Given the description of an element on the screen output the (x, y) to click on. 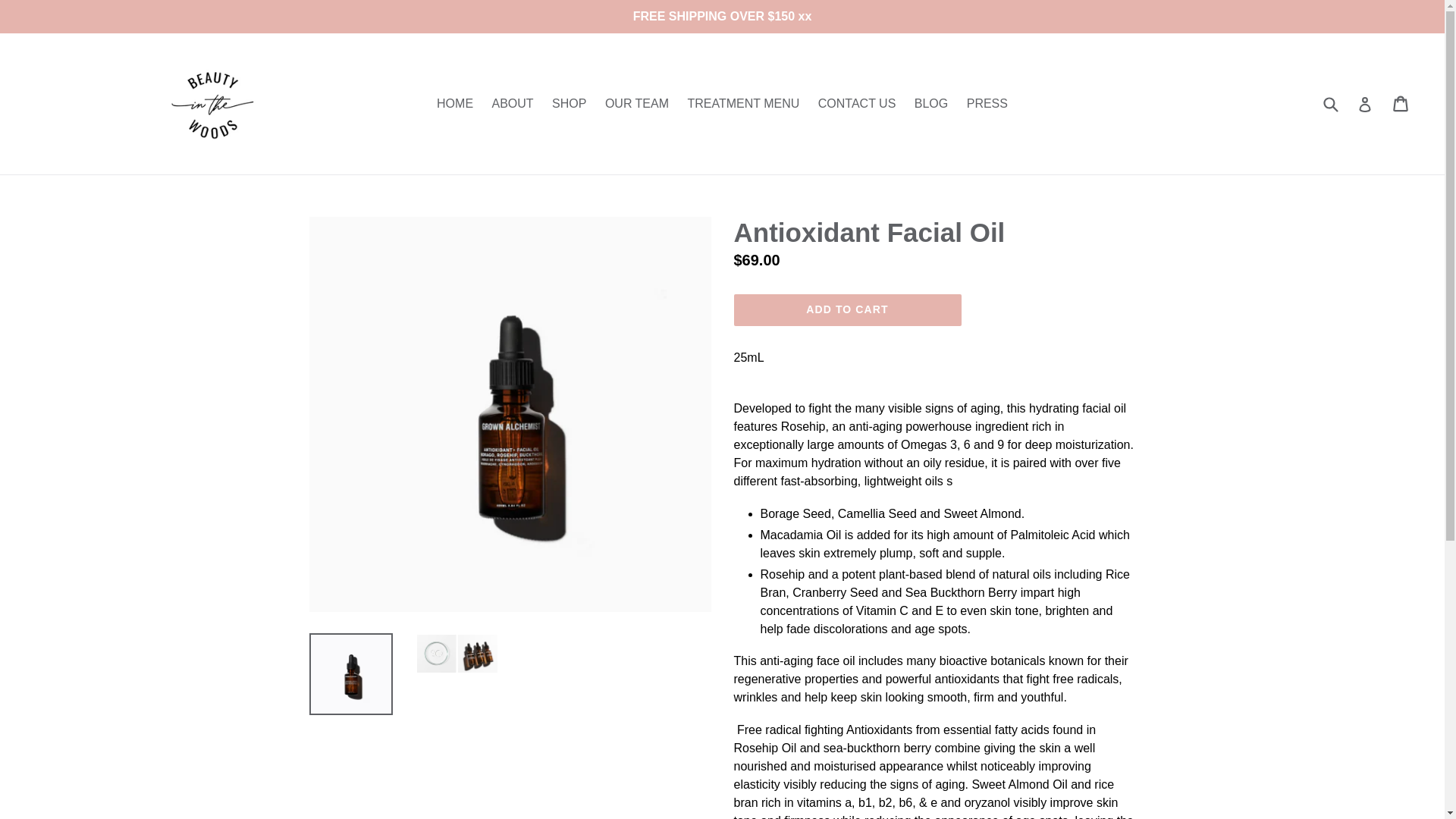
ADD TO CART (846, 309)
CONTACT US (857, 103)
OUR TEAM (636, 103)
BLOG (931, 103)
ABOUT (511, 103)
HOME (454, 103)
PRESS (986, 103)
TREATMENT MENU (742, 103)
SHOP (569, 103)
